Given the description of an element on the screen output the (x, y) to click on. 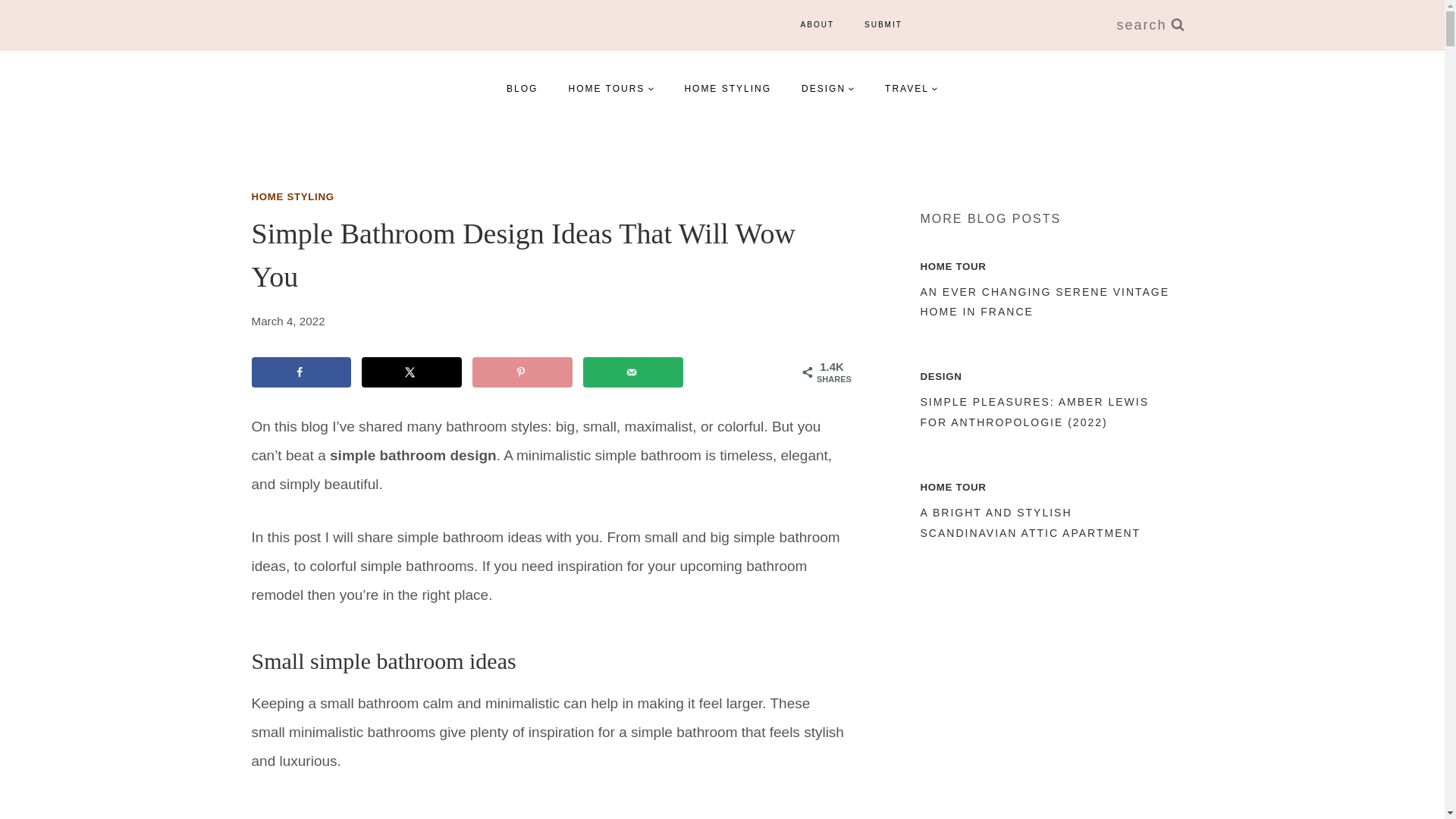
Simple Bathroom Design Ideas That Will Wow You 1 (549, 809)
BLOG (522, 87)
TRAVEL (911, 87)
Share on Facebook (301, 372)
HOME TOURS (610, 87)
search (1150, 25)
Save to Pinterest (521, 372)
HOME STYLING (727, 87)
Send over email (632, 372)
DESIGN (827, 87)
HOME STYLING (292, 196)
ABOUT (817, 24)
SUBMIT (882, 24)
Share on X (411, 372)
